Given the description of an element on the screen output the (x, y) to click on. 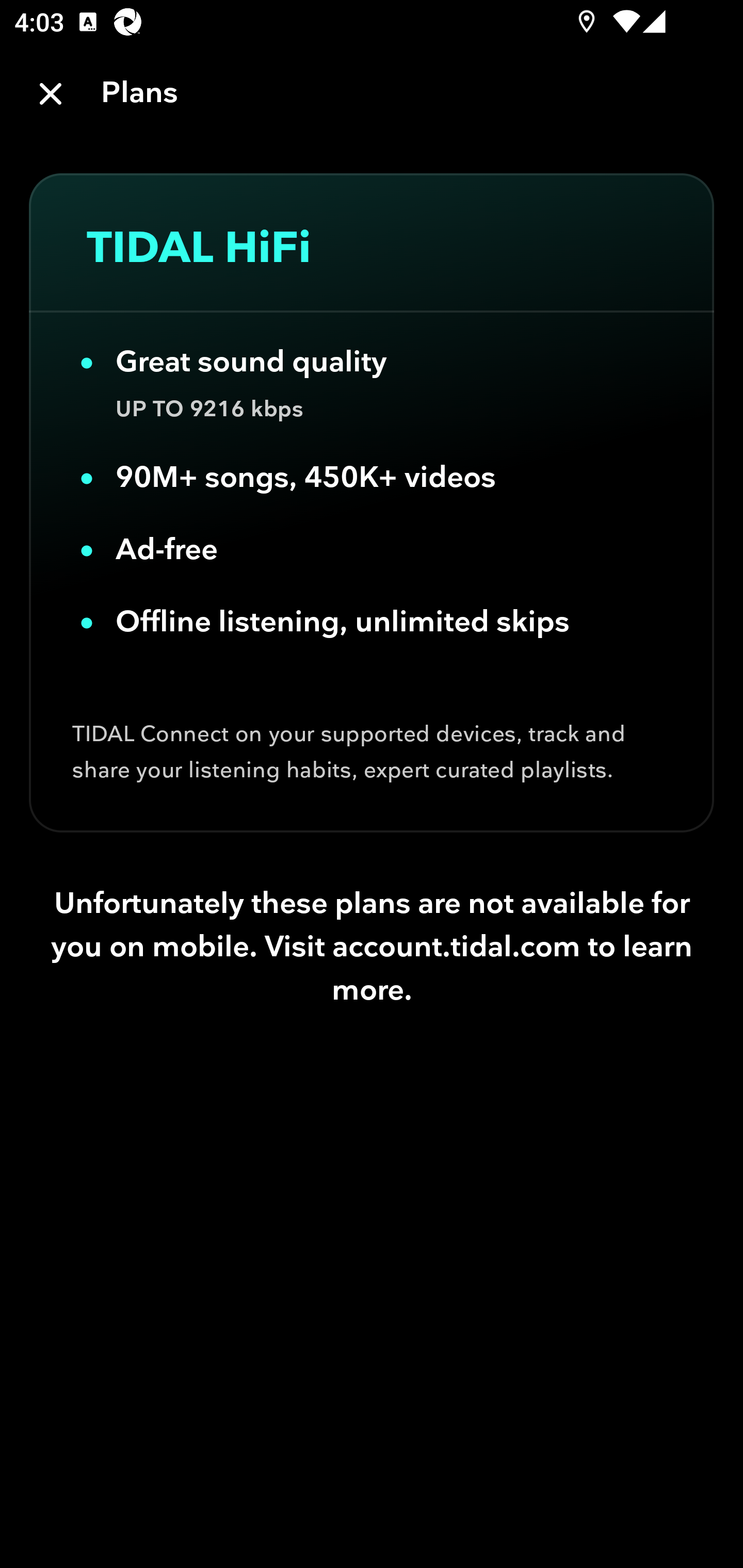
Close (50, 93)
